Given the description of an element on the screen output the (x, y) to click on. 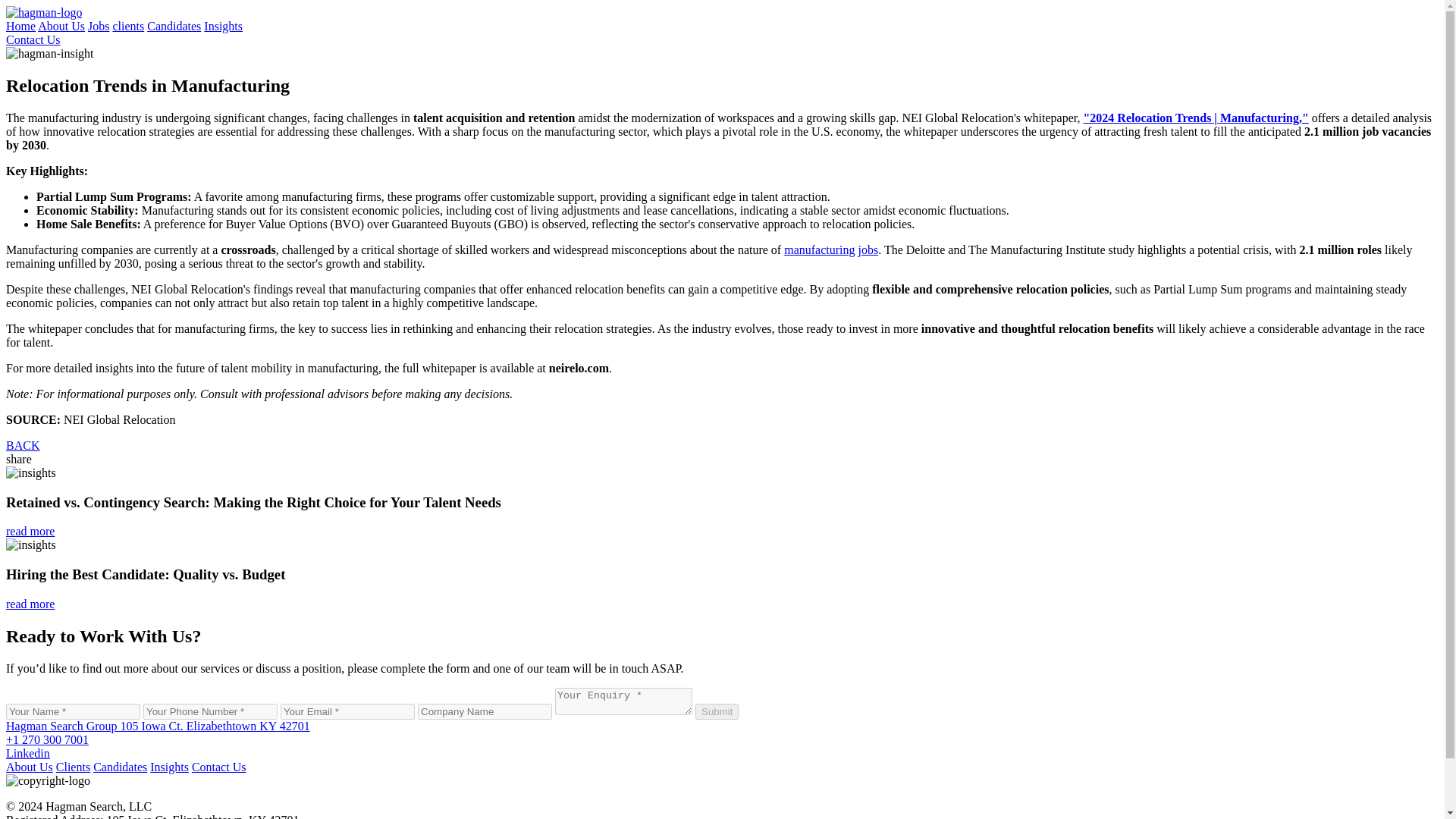
manufacturing jobs (830, 249)
Insights (223, 25)
Jobs (98, 25)
Candidates (173, 25)
Contact Us (33, 39)
BACK (22, 445)
About Us (28, 766)
Candidates (120, 766)
Hagman Search Group 105 Iowa Ct. Elizabethtown KY 42701 (157, 725)
Home (19, 25)
